Given the description of an element on the screen output the (x, y) to click on. 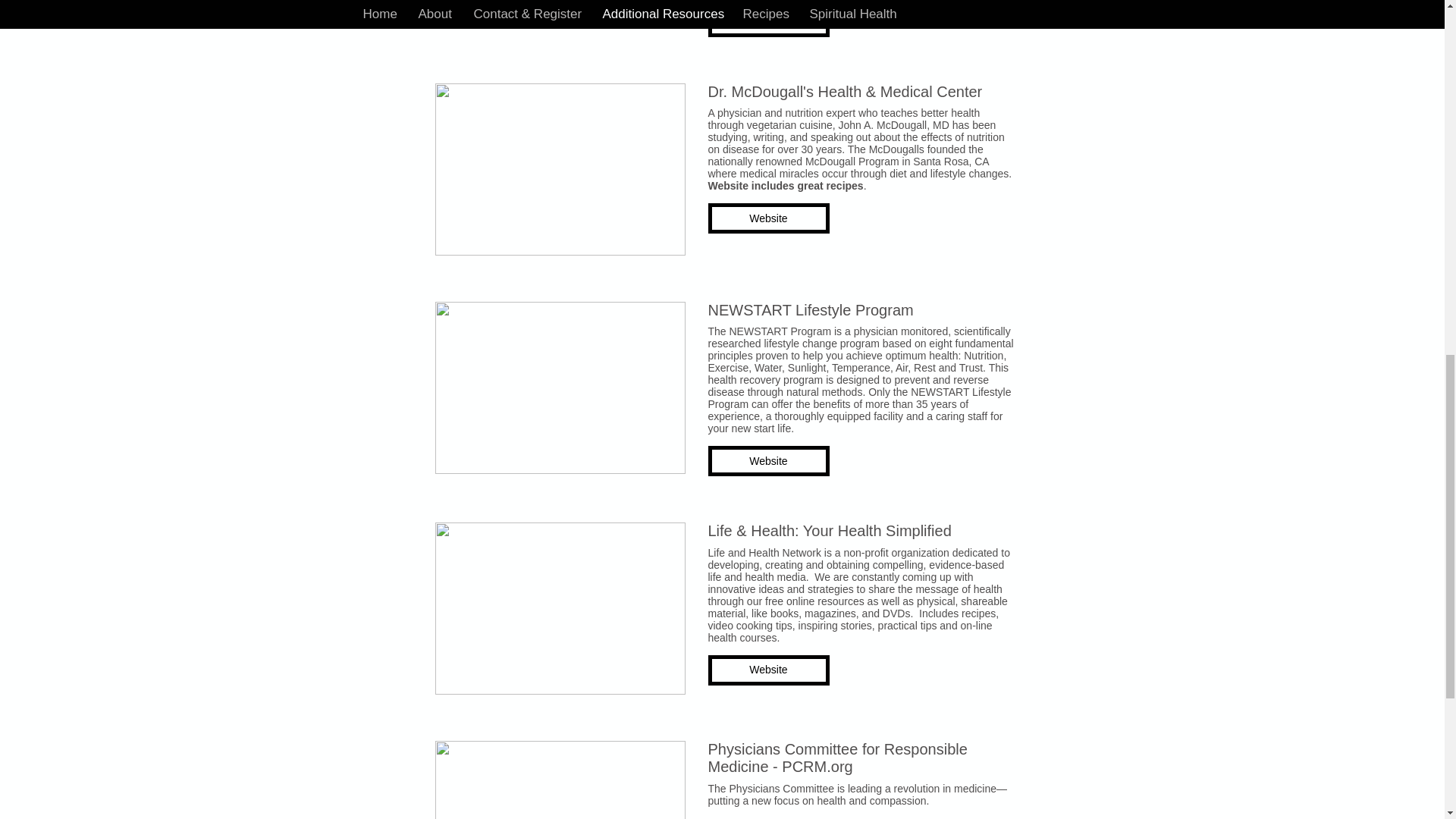
Website (768, 670)
7e92ee957ca622f043e0c7d0ce61451d.jpg (560, 8)
Website (768, 21)
Website (768, 460)
Gazebo.jpg (560, 388)
Little Boy Playing Doctor (560, 780)
Website (768, 218)
